Given the description of an element on the screen output the (x, y) to click on. 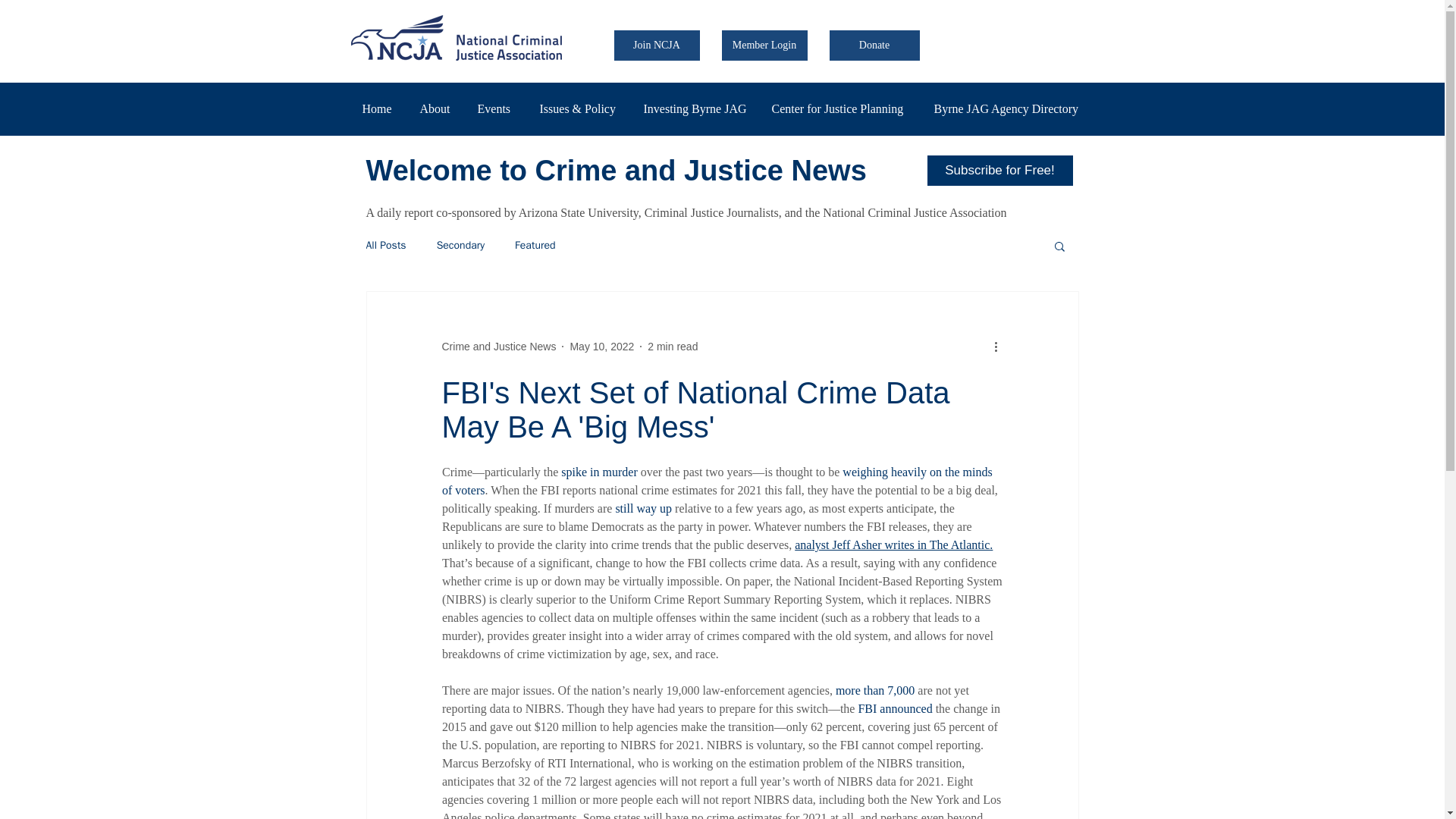
Center for Justice Planning (840, 108)
About (436, 108)
Member Login (765, 45)
Events (496, 108)
Donate (874, 45)
Home (378, 108)
May 10, 2022 (601, 346)
Investing Byrne JAG (695, 108)
2 min read (672, 346)
Join NCJA (657, 45)
